Given the description of an element on the screen output the (x, y) to click on. 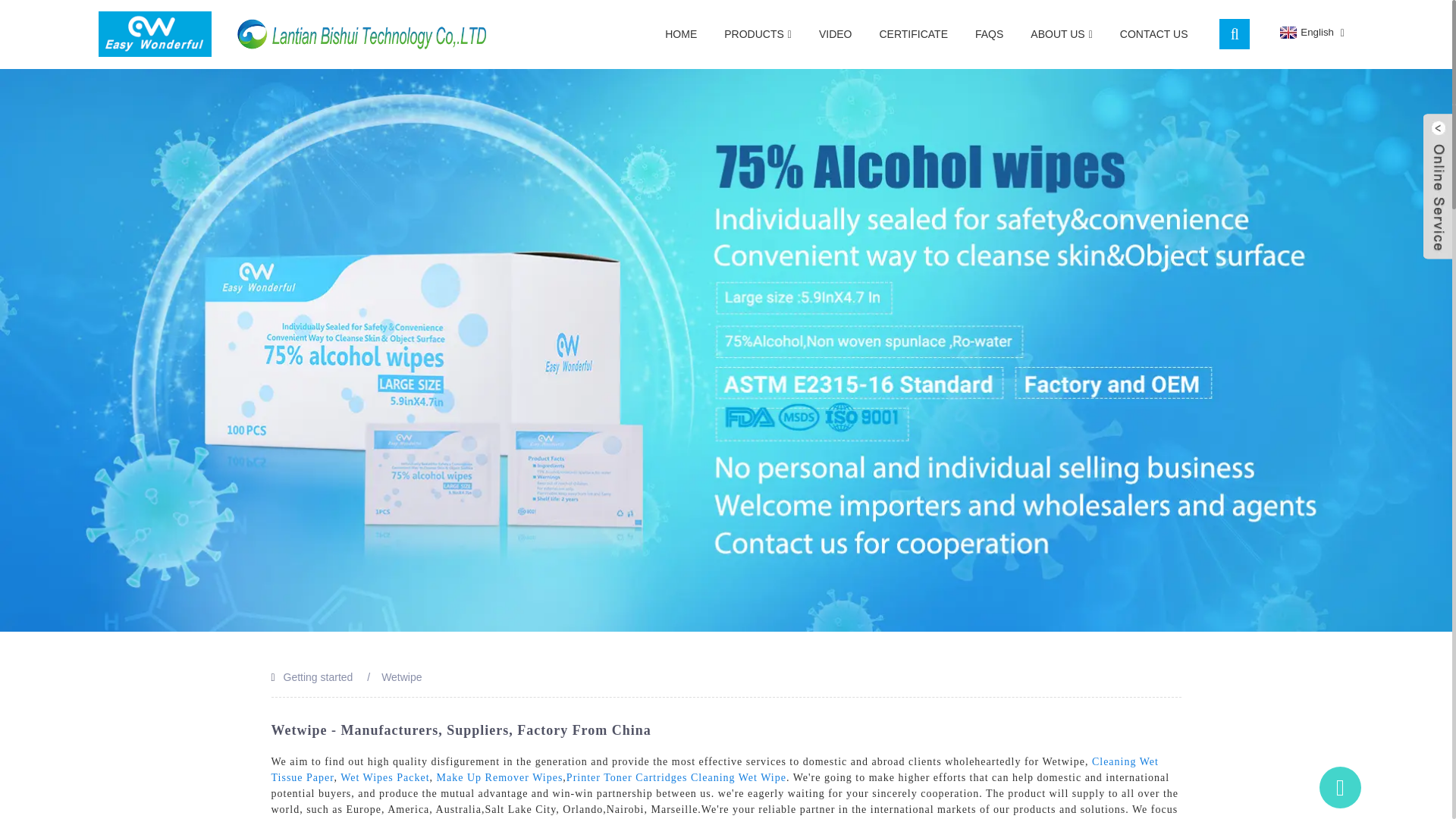
ABOUT US (1060, 34)
Printer Toner Cartridges Cleaning Wet Wipe (676, 777)
VIDEO (835, 33)
PRODUCTS (757, 34)
English (1304, 32)
Getting started (318, 676)
Wetwipe (401, 676)
Cleaning Wet Tissue Paper (714, 768)
Printer Toner Cartridges Cleaning Wet Wipe (676, 777)
Make Up Remover Wipes (499, 777)
Wet Wipes Packet (384, 777)
CERTIFICATE (912, 33)
CONTACT US (1154, 33)
Wet Wipes Packet (384, 777)
Cleaning Wet Tissue Paper (714, 768)
